Given the description of an element on the screen output the (x, y) to click on. 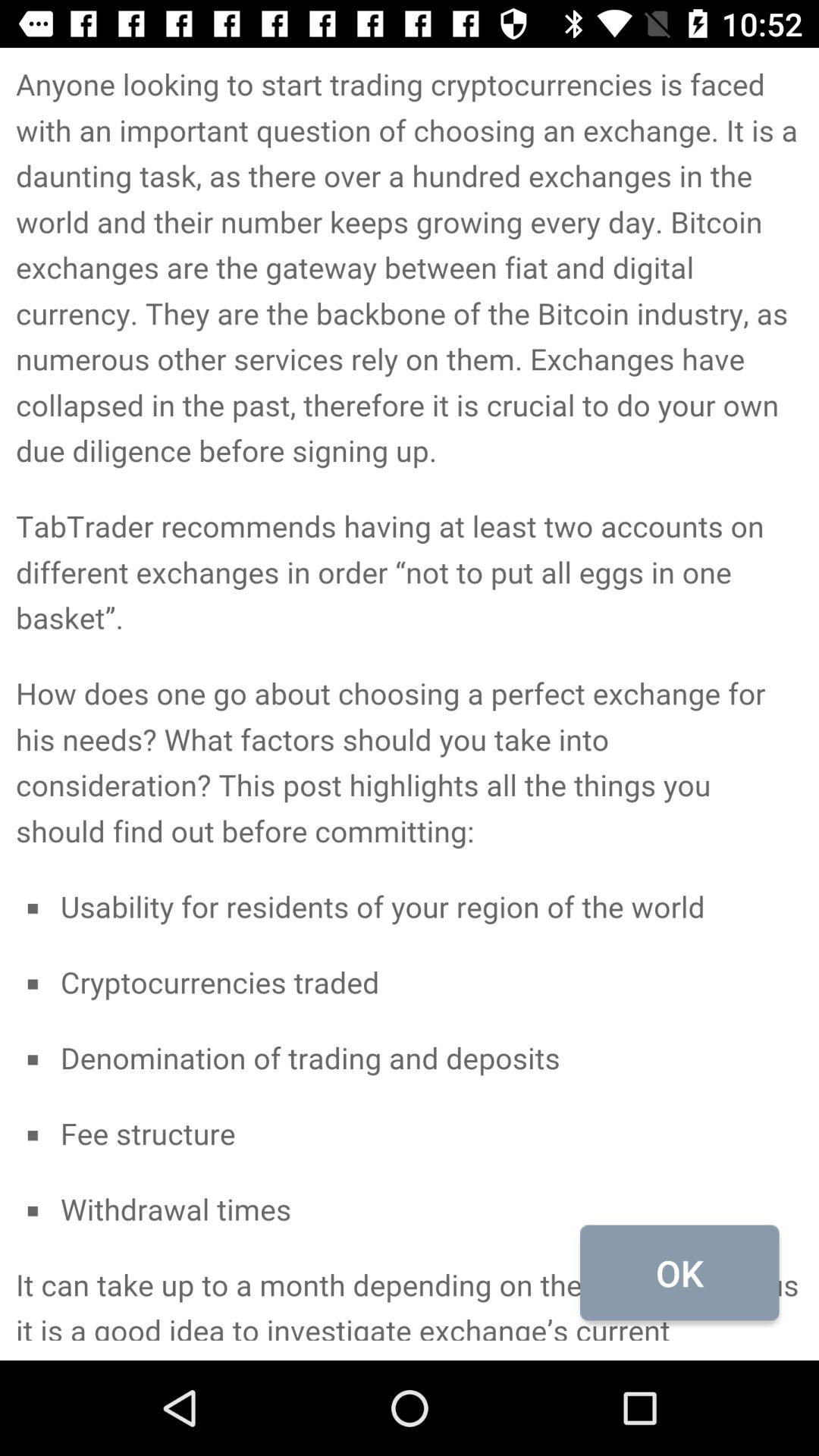
jump to the ok icon (679, 1272)
